Given the description of an element on the screen output the (x, y) to click on. 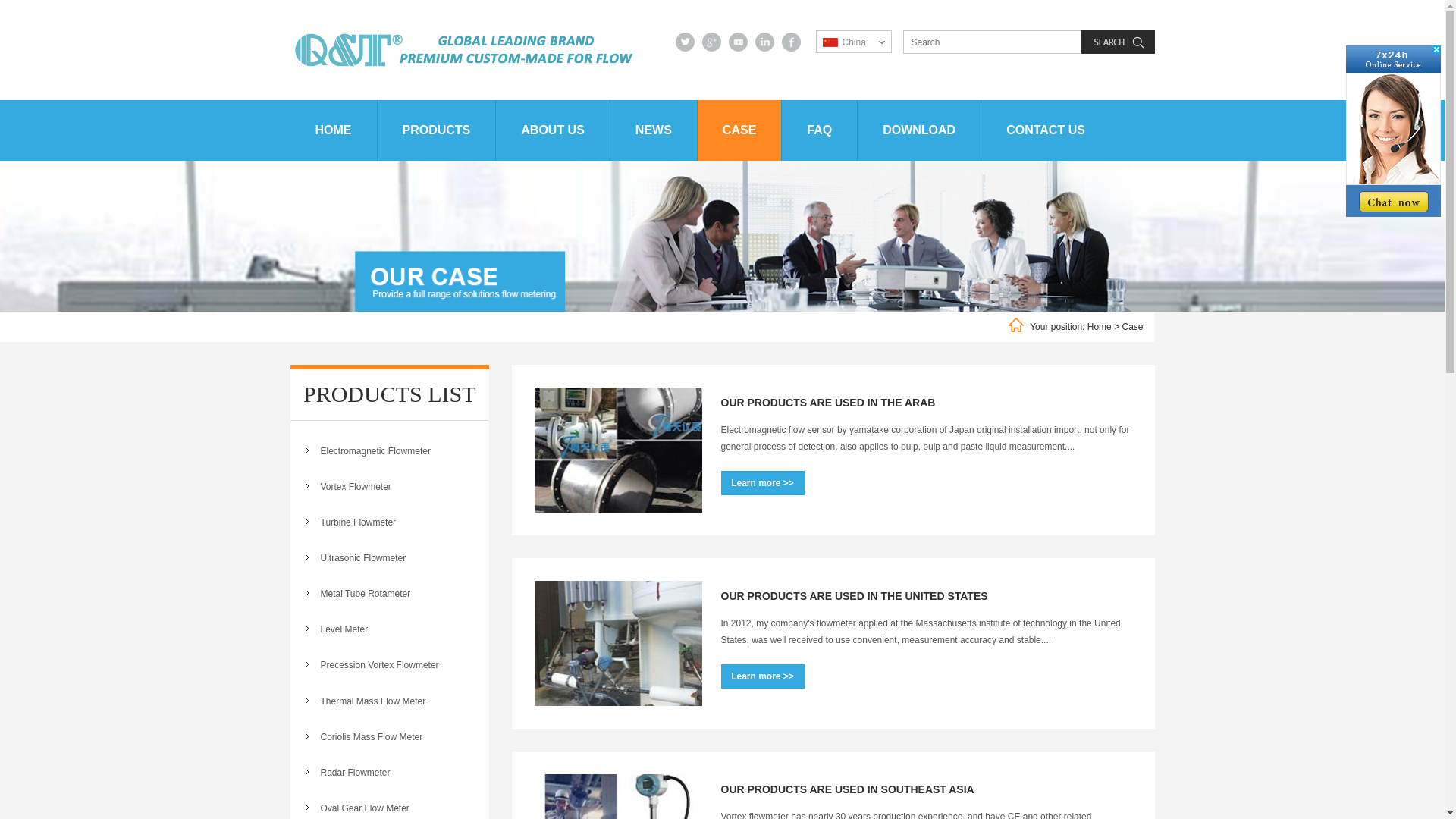
Radar Flowmeter Element type: text (389, 772)
Ultrasonic Flowmeter Element type: text (389, 558)
DOWNLOAD Element type: text (919, 130)
Electromagnetic Flowmeter Element type: text (389, 451)
NEWS Element type: text (653, 130)
PRODUCTS Element type: text (436, 130)
Metal Tube Rotameter Element type: text (389, 593)
Search Element type: hover (1117, 41)
China Element type: text (843, 42)
HOME Element type: text (332, 130)
PRODUCTS LIST Element type: text (389, 394)
Precession Vortex Flowmeter Element type: text (389, 665)
Thermal Mass Flow Meter Element type: text (389, 701)
CONTACT US Element type: text (1045, 130)
Level Meter Element type: text (389, 629)
CASE Element type: text (739, 130)
Coriolis Mass Flow Meter Element type: text (389, 737)
Vortex Flowmeter Element type: text (389, 487)
ABOUT US Element type: text (552, 130)
Case Element type: text (1131, 326)
Home Element type: text (1099, 326)
Turbine Flowmeter Element type: text (389, 522)
FAQ Element type: text (819, 130)
